Given the description of an element on the screen output the (x, y) to click on. 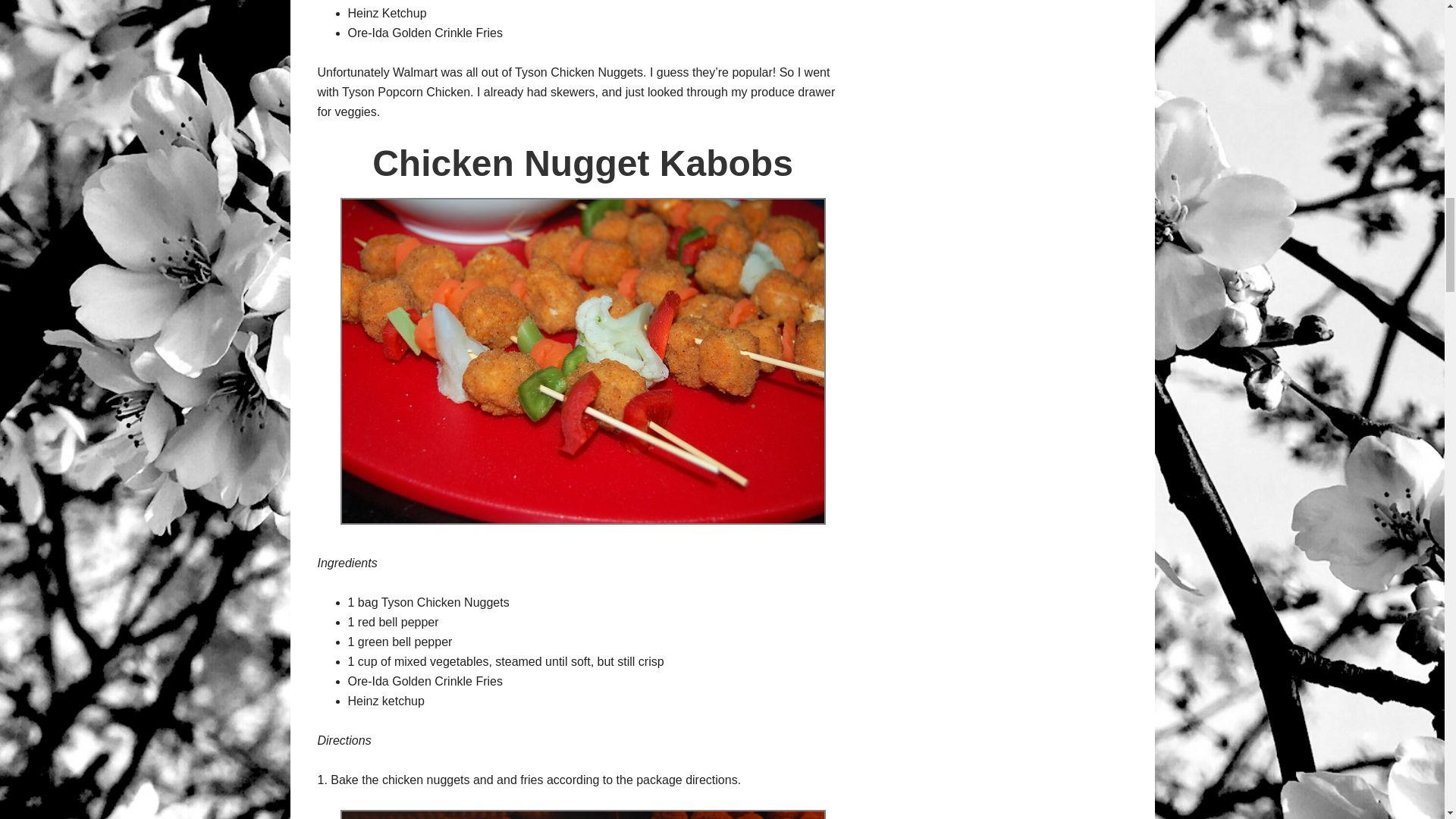
fries and chicken nuggets by MrsMarianaP, on Flickr (582, 814)
